Given the description of an element on the screen output the (x, y) to click on. 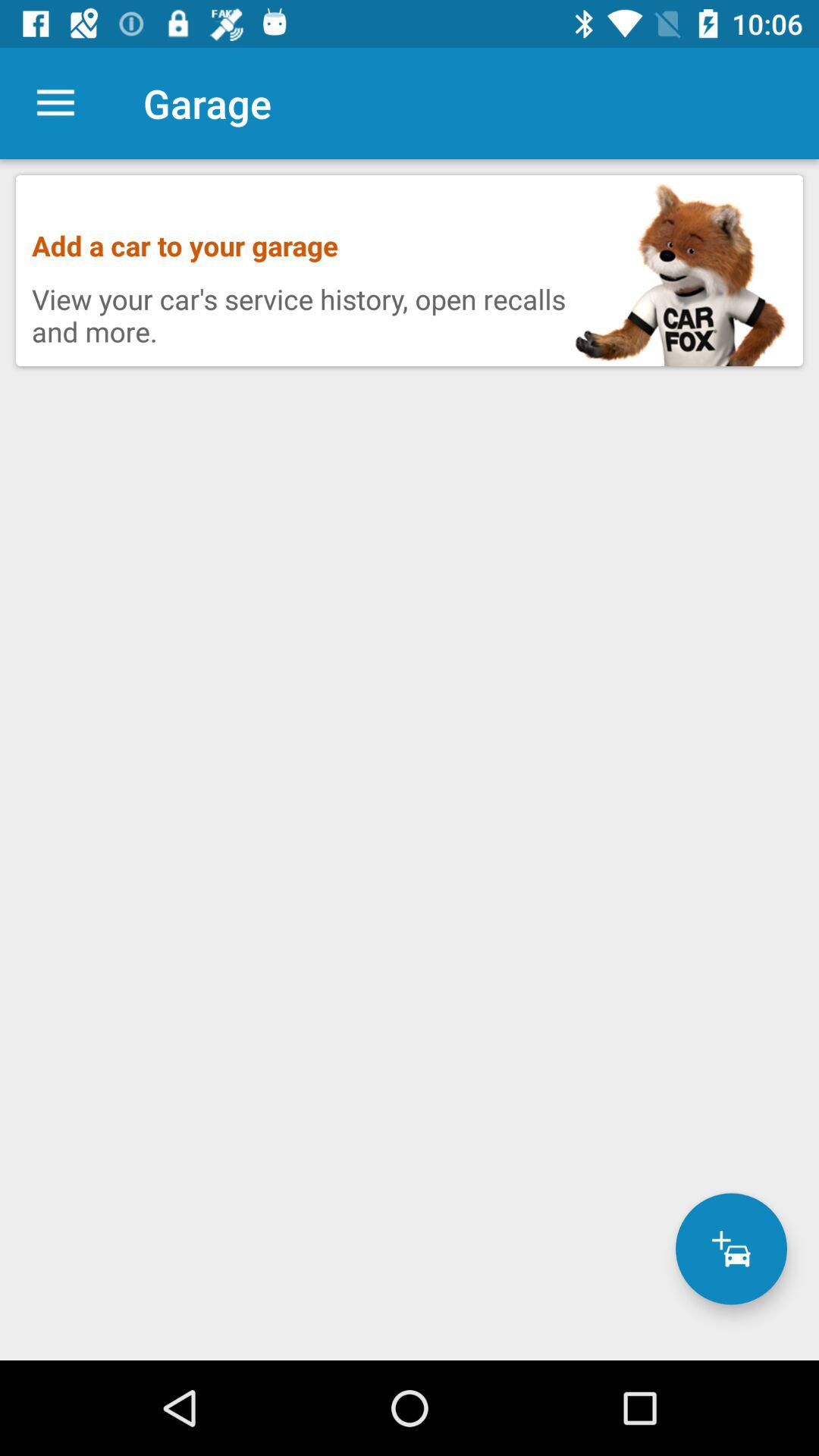
add a car (731, 1248)
